Given the description of an element on the screen output the (x, y) to click on. 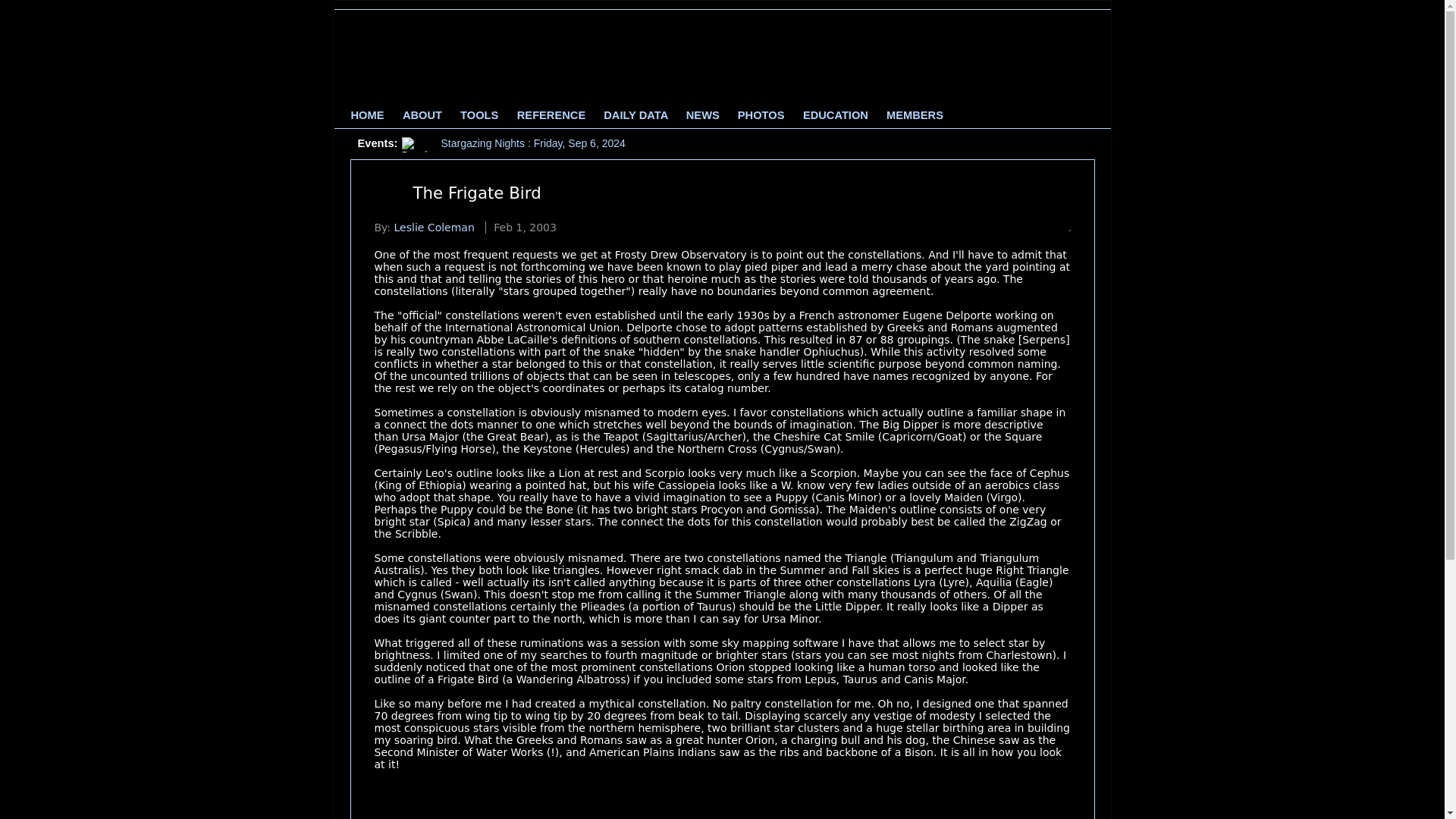
ABOUT (422, 114)
Frosty Drew Observatory Home (367, 114)
Donate to Frosty Drew Observatory and Science Center (1075, 52)
PHOTOS (761, 114)
MEMBERS (914, 114)
EDUCATION (835, 114)
Stargazing Nights : Friday, Sep 6, 2024 (533, 143)
DAILY DATA (635, 114)
HOME (367, 114)
